Given the description of an element on the screen output the (x, y) to click on. 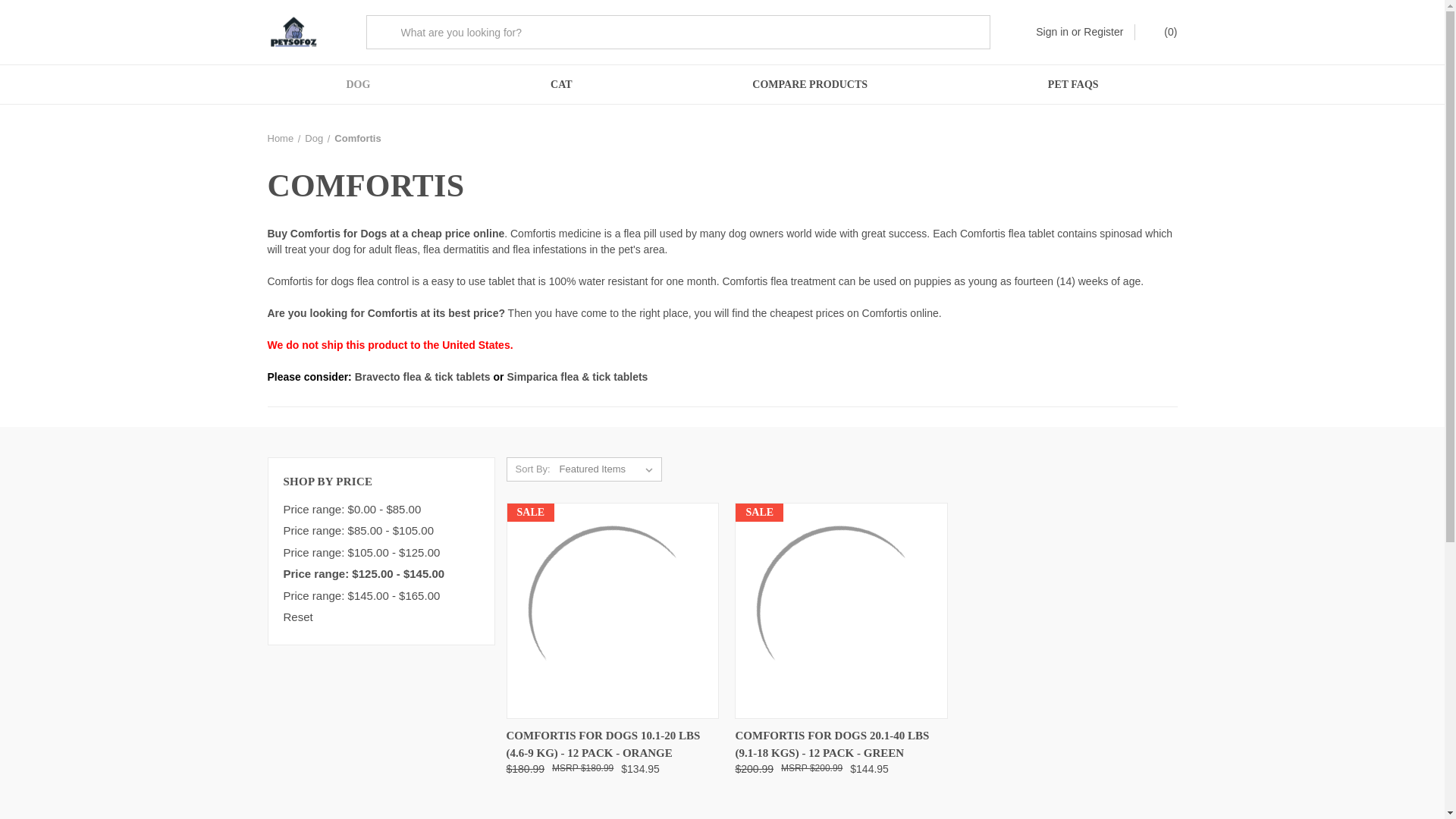
Register (1102, 32)
Petsofoz.net - Online Pet Supplies Store (292, 32)
DOG (358, 84)
Sign in (1051, 32)
